Given the description of an element on the screen output the (x, y) to click on. 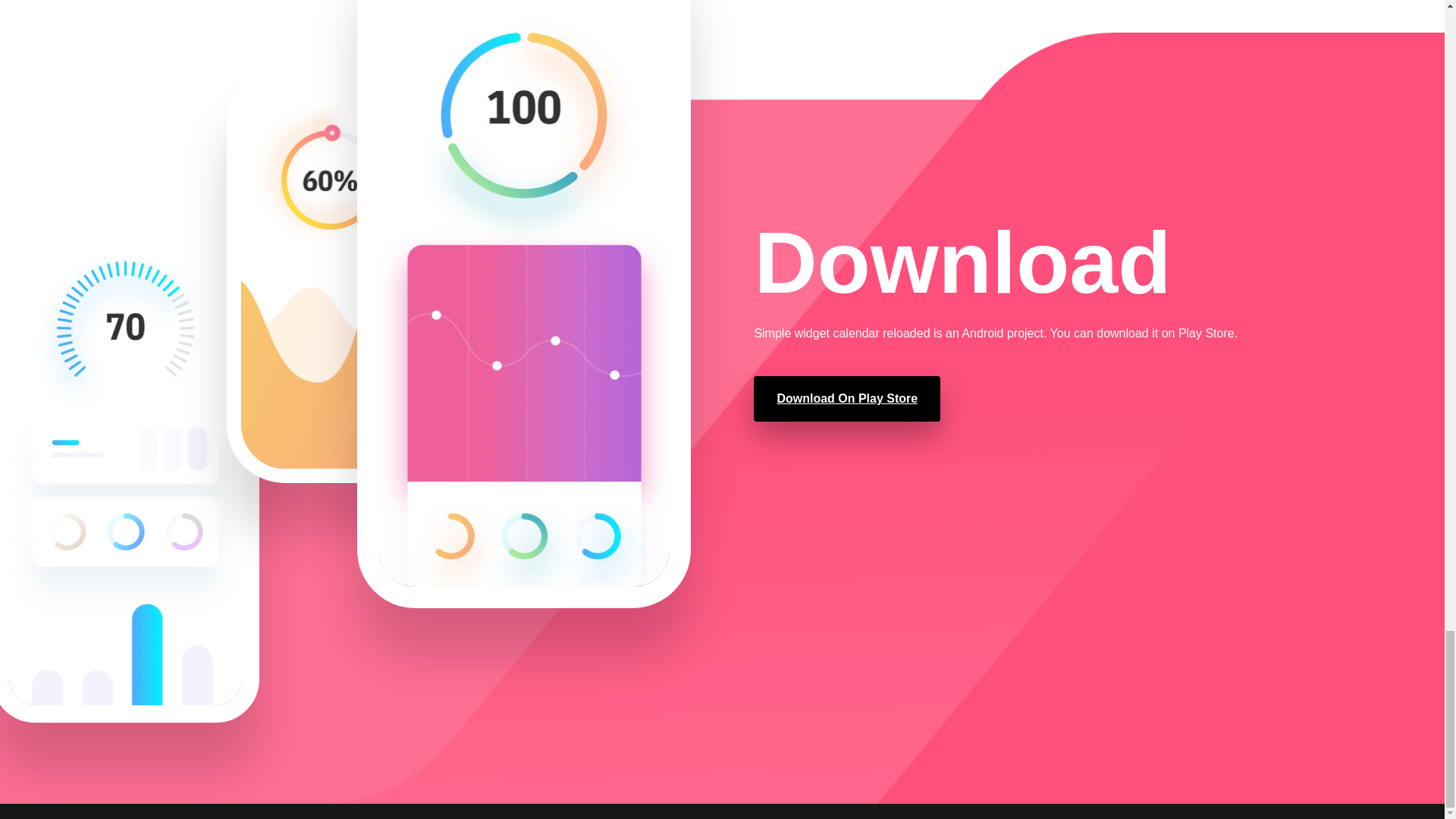
Download On Play Store (847, 397)
